Given the description of an element on the screen output the (x, y) to click on. 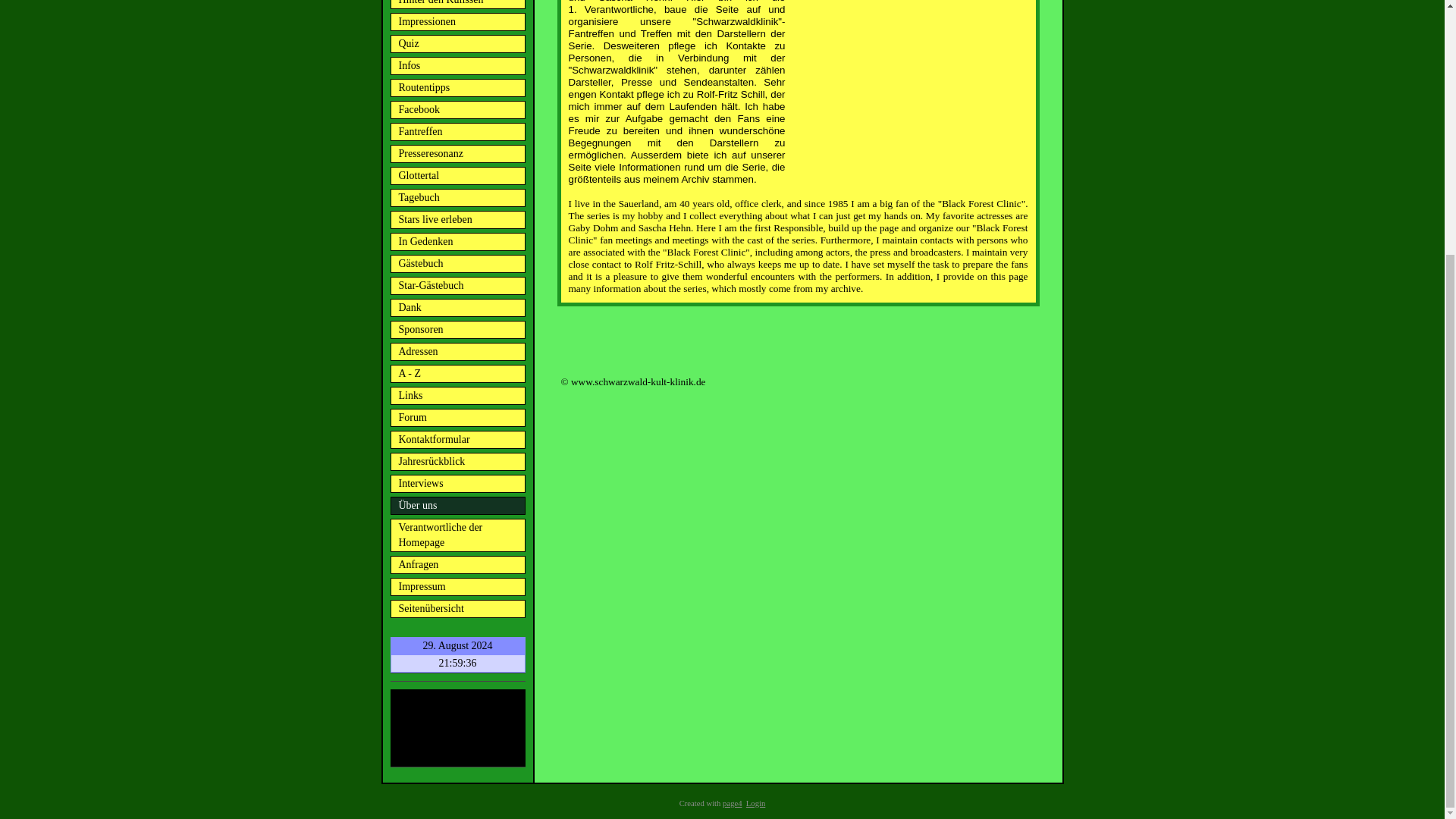
page4 (731, 803)
Facebook (457, 109)
Stars live erleben (457, 219)
Tagebuch (457, 198)
Routentipps (457, 87)
Fantreffen (457, 131)
Verantwortliche der Homepage (457, 535)
Impressum (457, 587)
Interviews (457, 484)
Presseresonanz (457, 153)
